Given the description of an element on the screen output the (x, y) to click on. 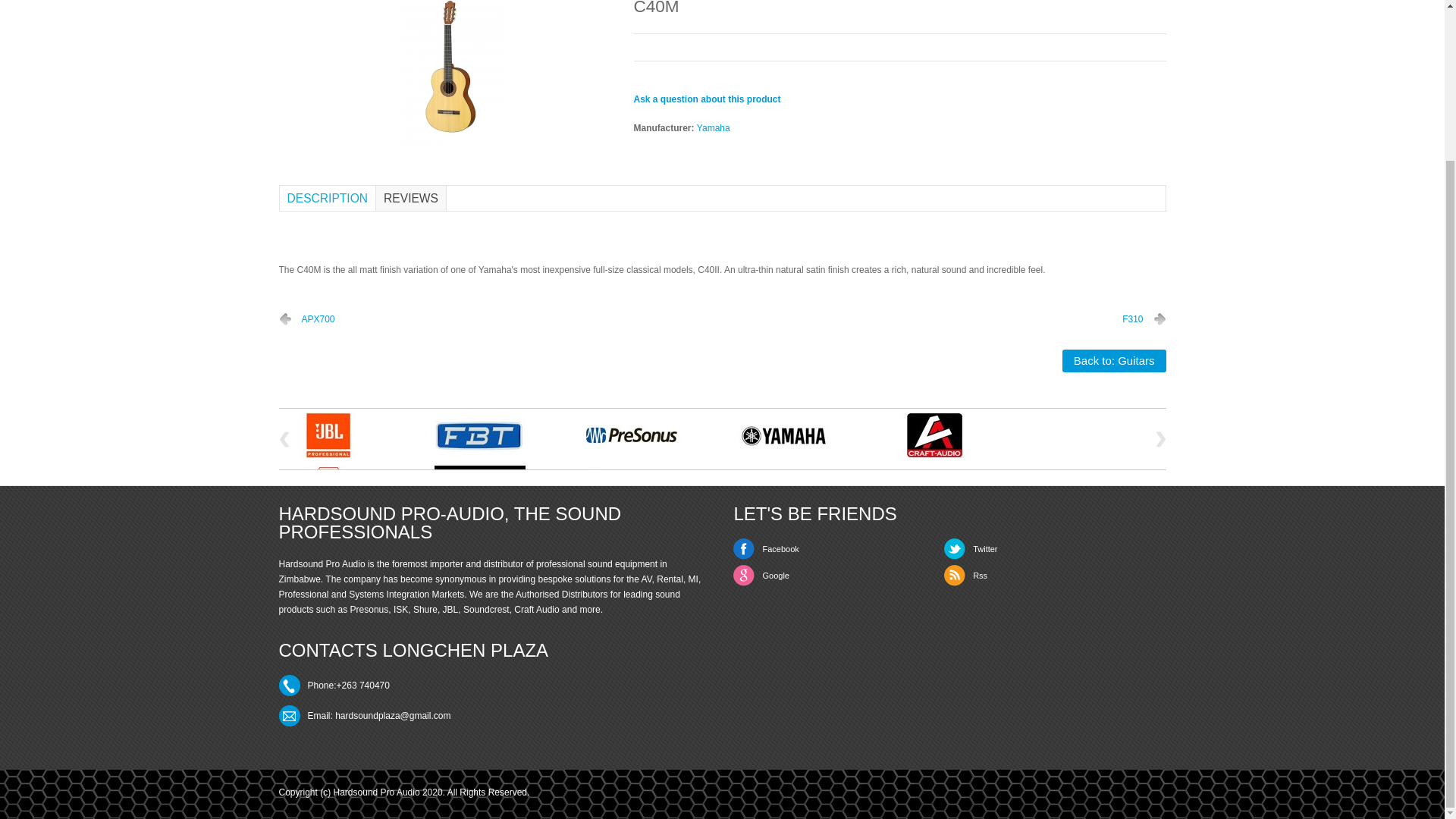
Yamaha (713, 127)
Ask a question about this product (706, 99)
DESCRIPTION (327, 197)
REVIEWS (410, 197)
